Given the description of an element on the screen output the (x, y) to click on. 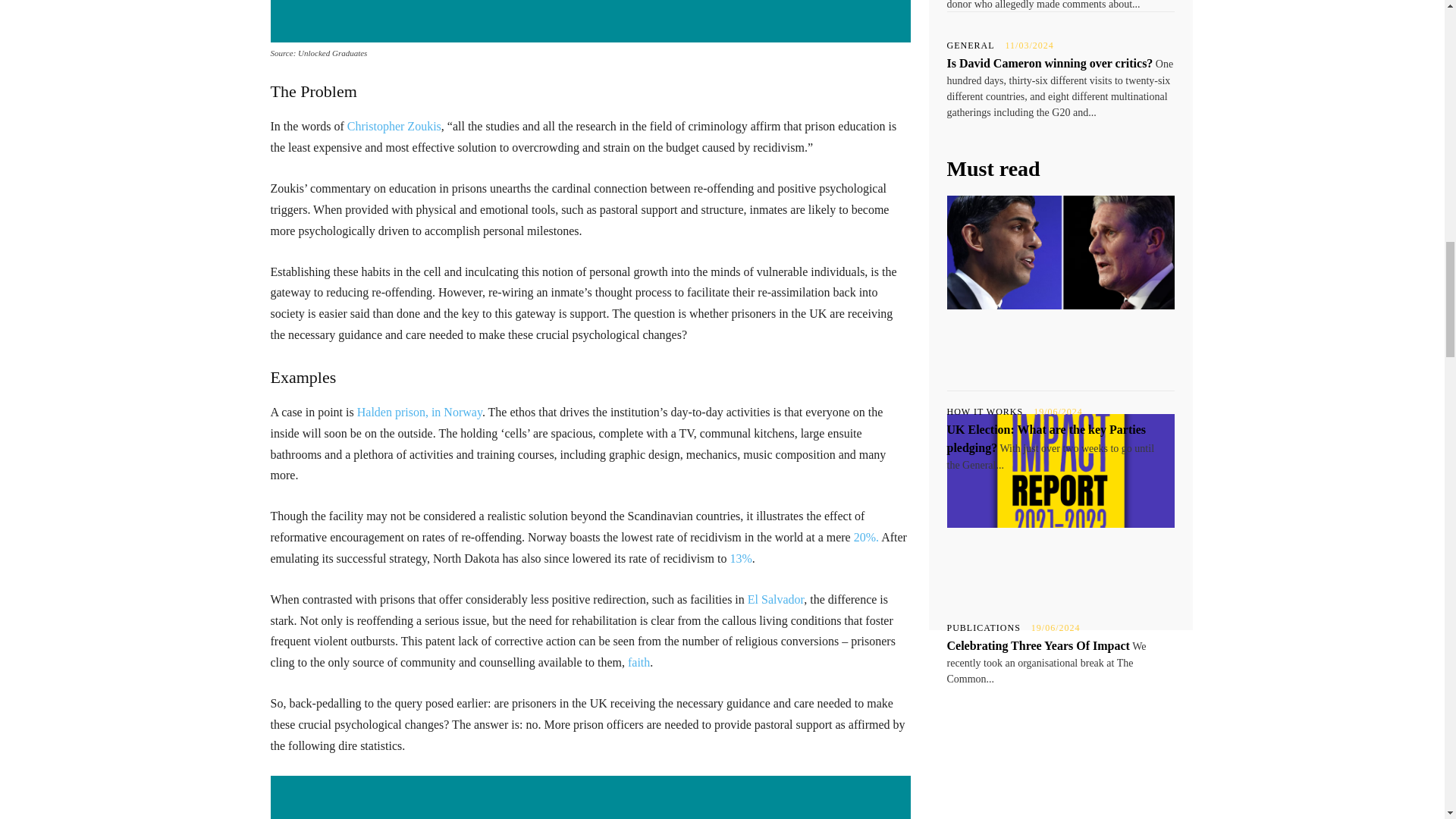
Christopher Zoukis (394, 125)
El Salvador (775, 599)
Halden prison, in Norway (418, 411)
faith (638, 662)
